Given the description of an element on the screen output the (x, y) to click on. 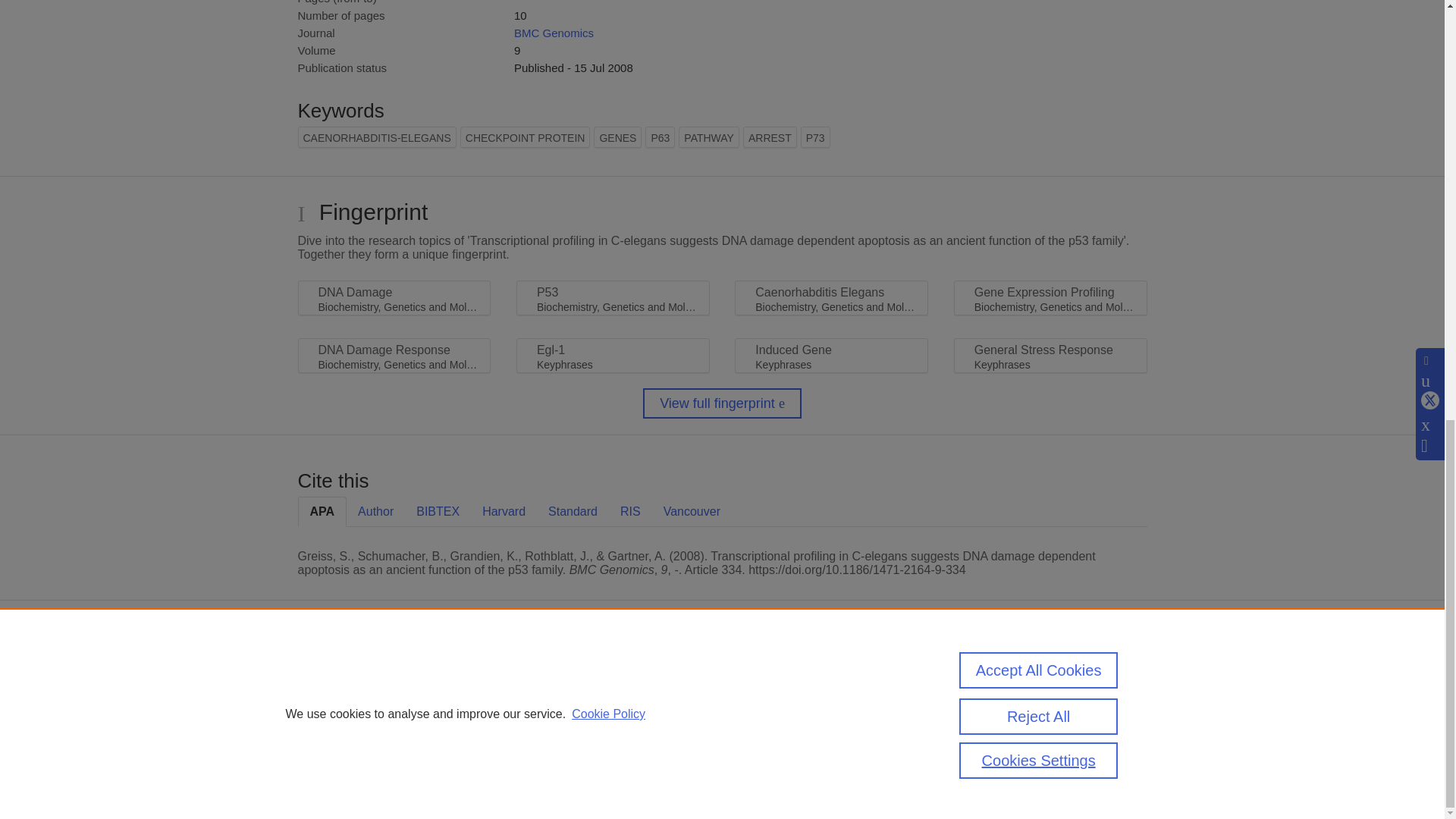
Scopus (394, 675)
BMC Genomics (553, 32)
View full fingerprint (722, 403)
Pure (362, 675)
